Given the description of an element on the screen output the (x, y) to click on. 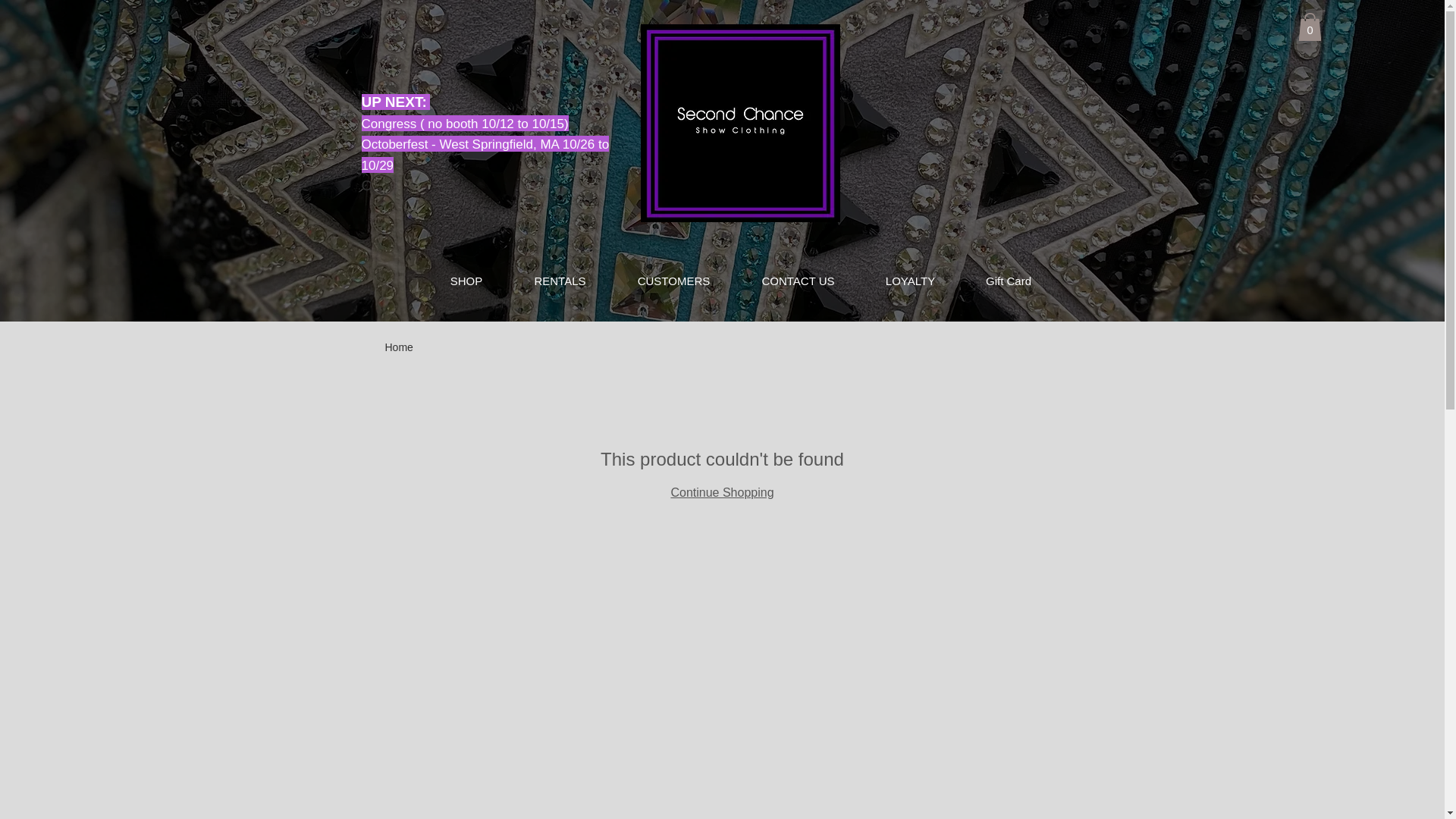
RENTALS Element type: text (559, 280)
LOYALTY Element type: text (909, 280)
SHOP Element type: text (466, 280)
CONTACT US Element type: text (797, 280)
Home Element type: text (399, 347)
0 Element type: text (1309, 26)
CUSTOMERS Element type: text (673, 280)
Continue Shopping Element type: text (721, 492)
Gift Card Element type: text (1008, 280)
